Given the description of an element on the screen output the (x, y) to click on. 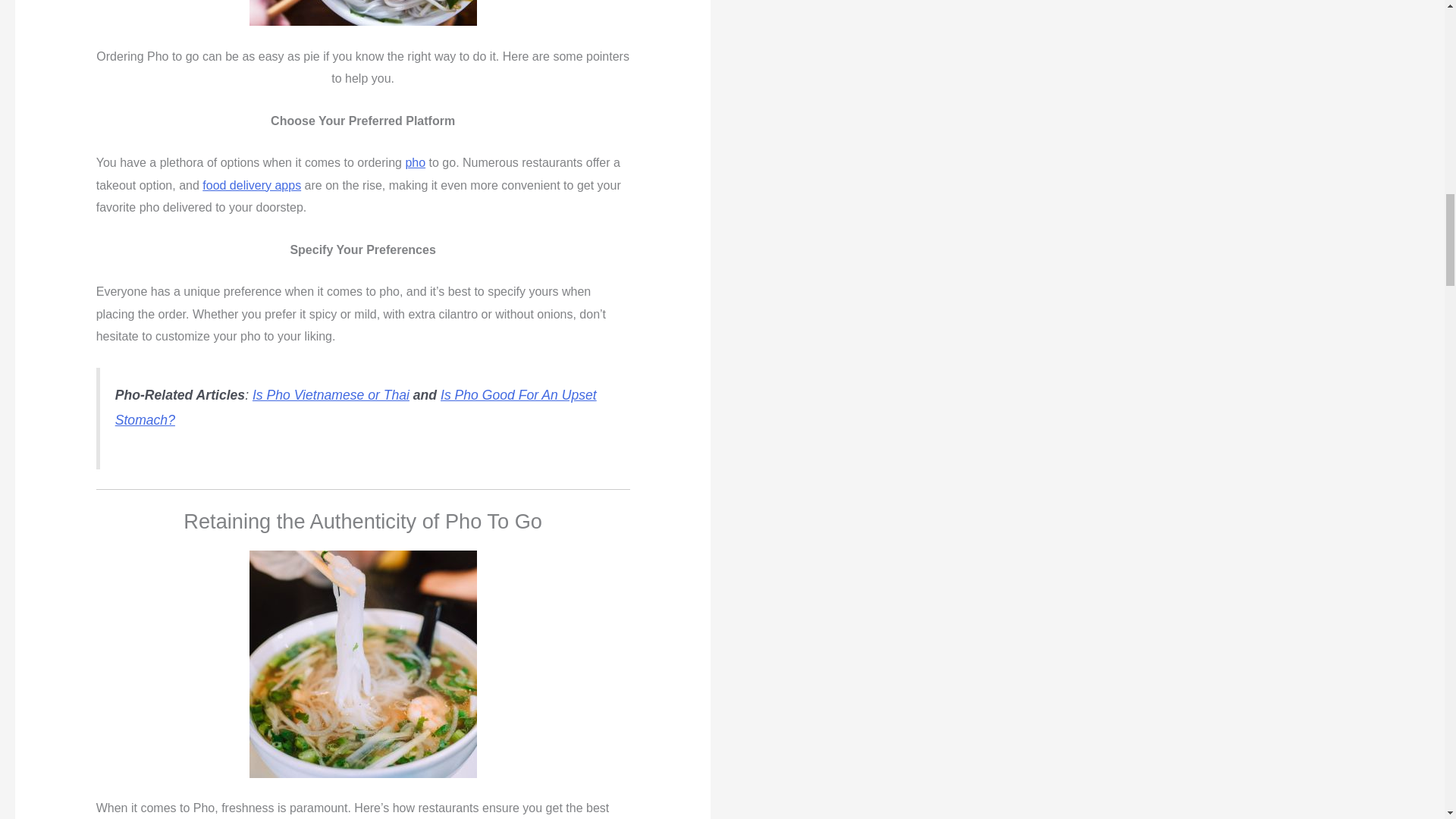
Is Pho Good For An Upset Stomach? (355, 407)
food delivery apps (251, 185)
Is Pho Vietnamese or Thai (330, 394)
pho (414, 162)
